Given the description of an element on the screen output the (x, y) to click on. 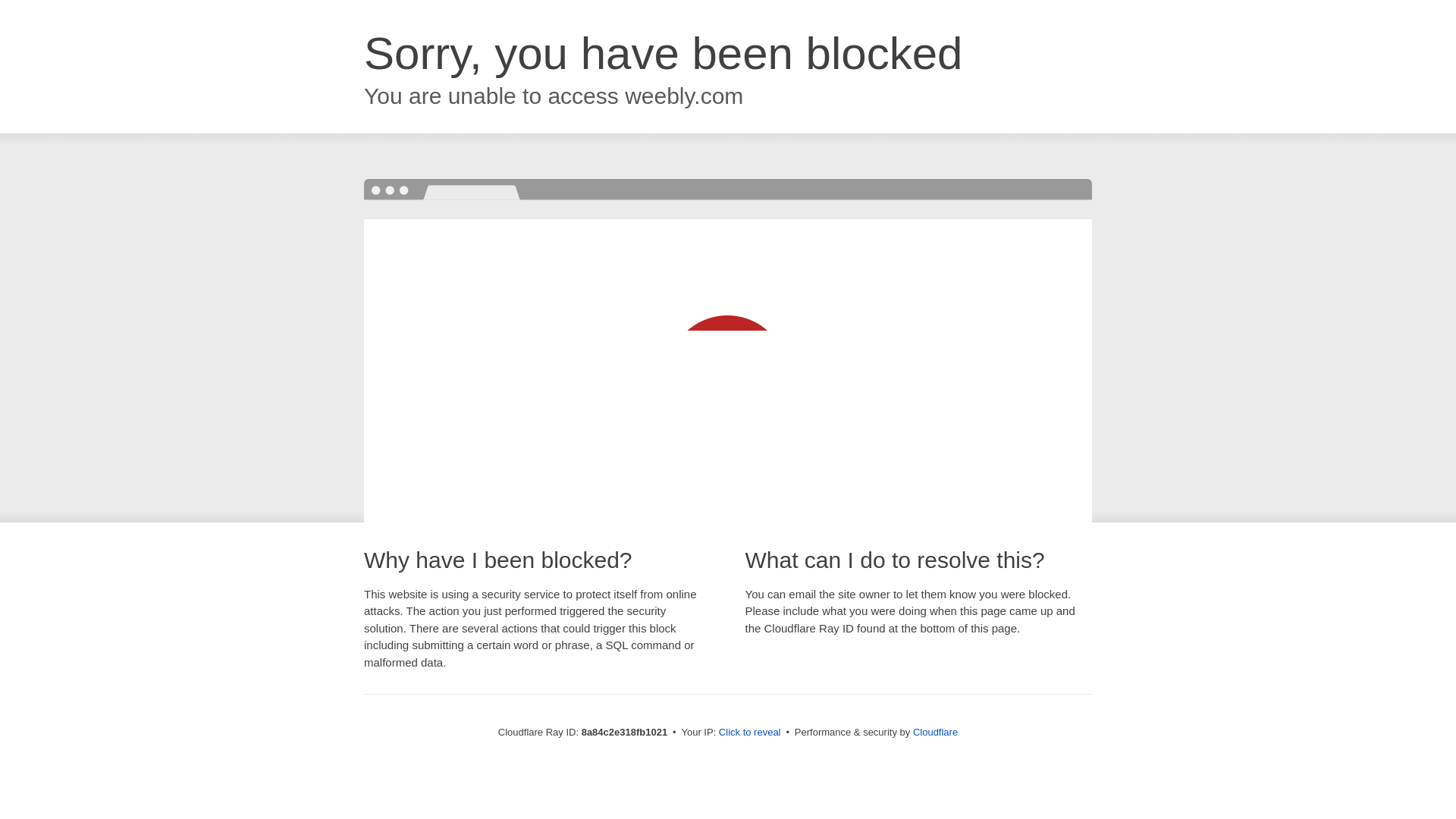
Click to reveal (749, 732)
Cloudflare (935, 731)
